Given the description of an element on the screen output the (x, y) to click on. 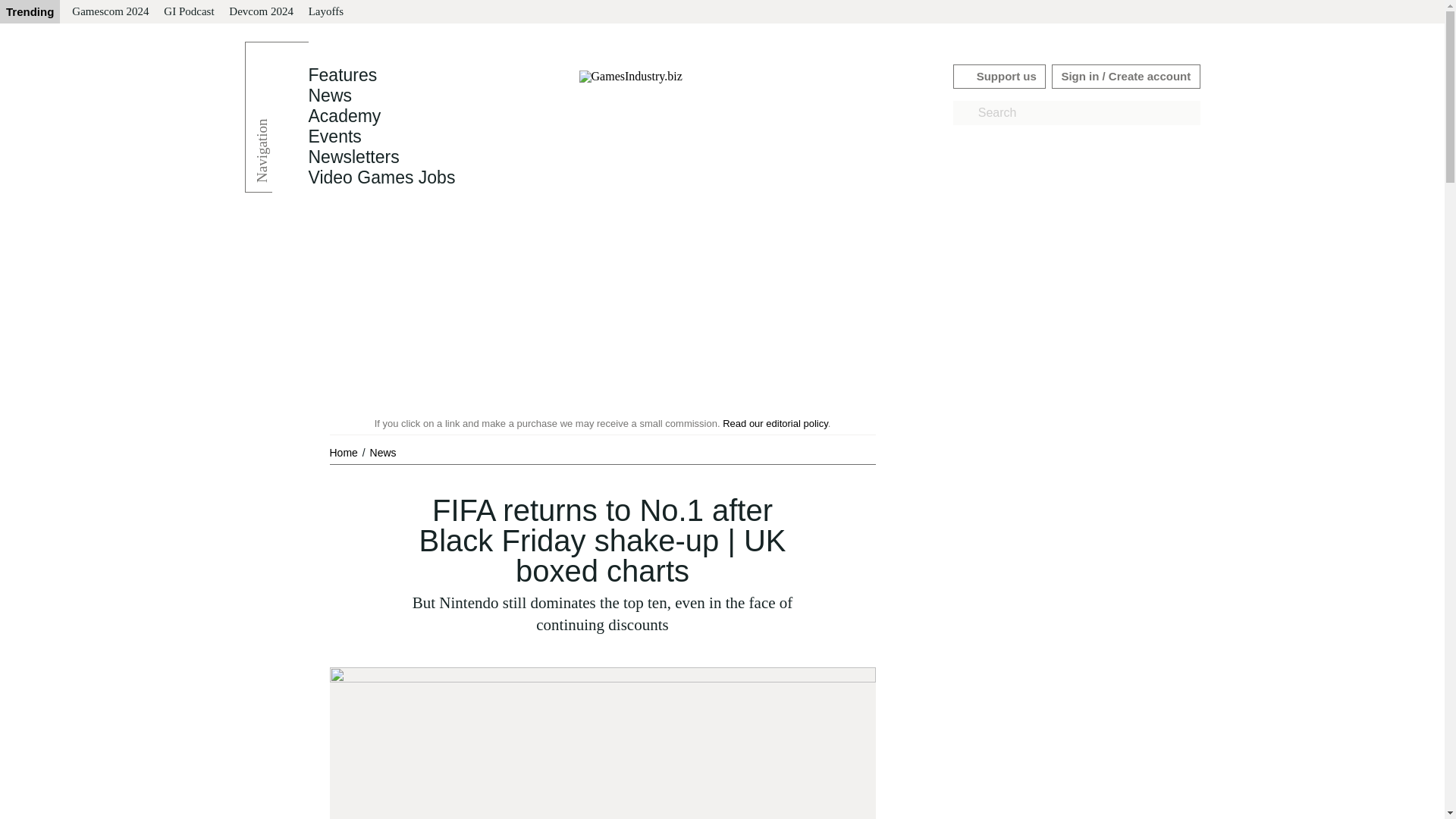
Events (334, 136)
Academy (343, 116)
Newsletters (352, 157)
Features (342, 75)
GI Podcast (188, 11)
News (329, 95)
Video Games Jobs (380, 177)
News (329, 95)
Academy (343, 116)
Support us (999, 75)
